Given the description of an element on the screen output the (x, y) to click on. 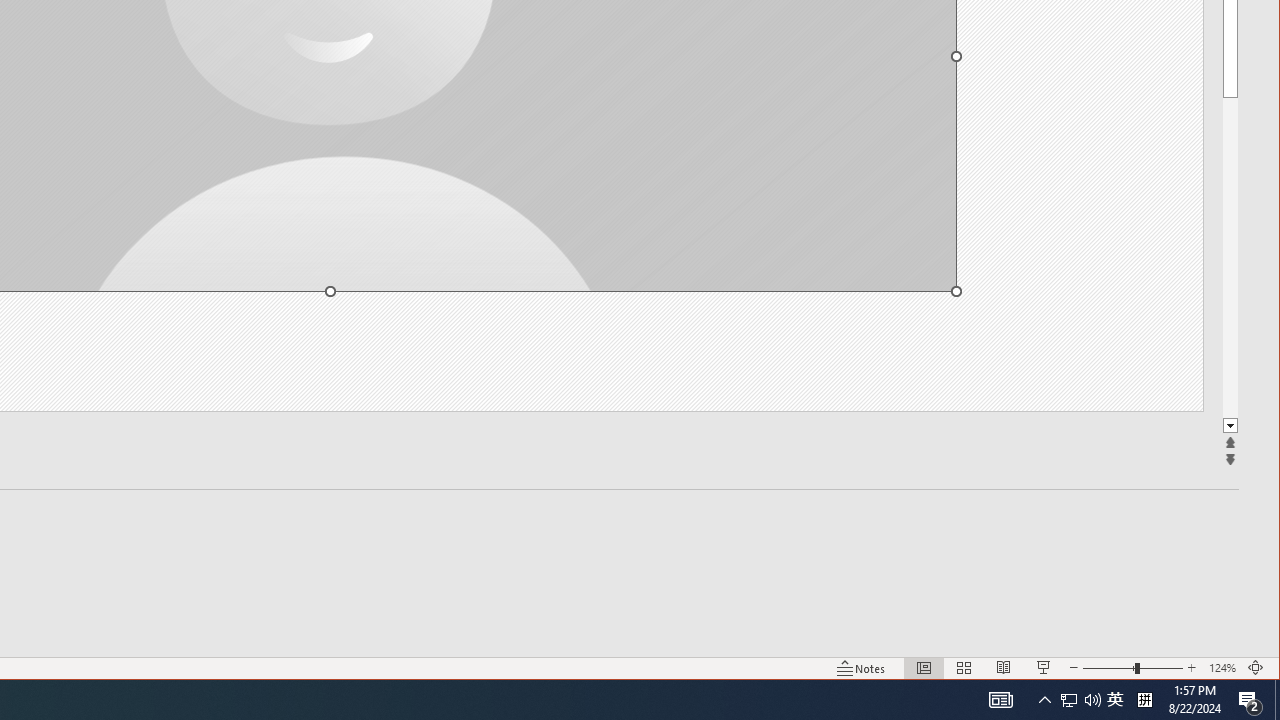
Zoom 124% (1222, 668)
